Given the description of an element on the screen output the (x, y) to click on. 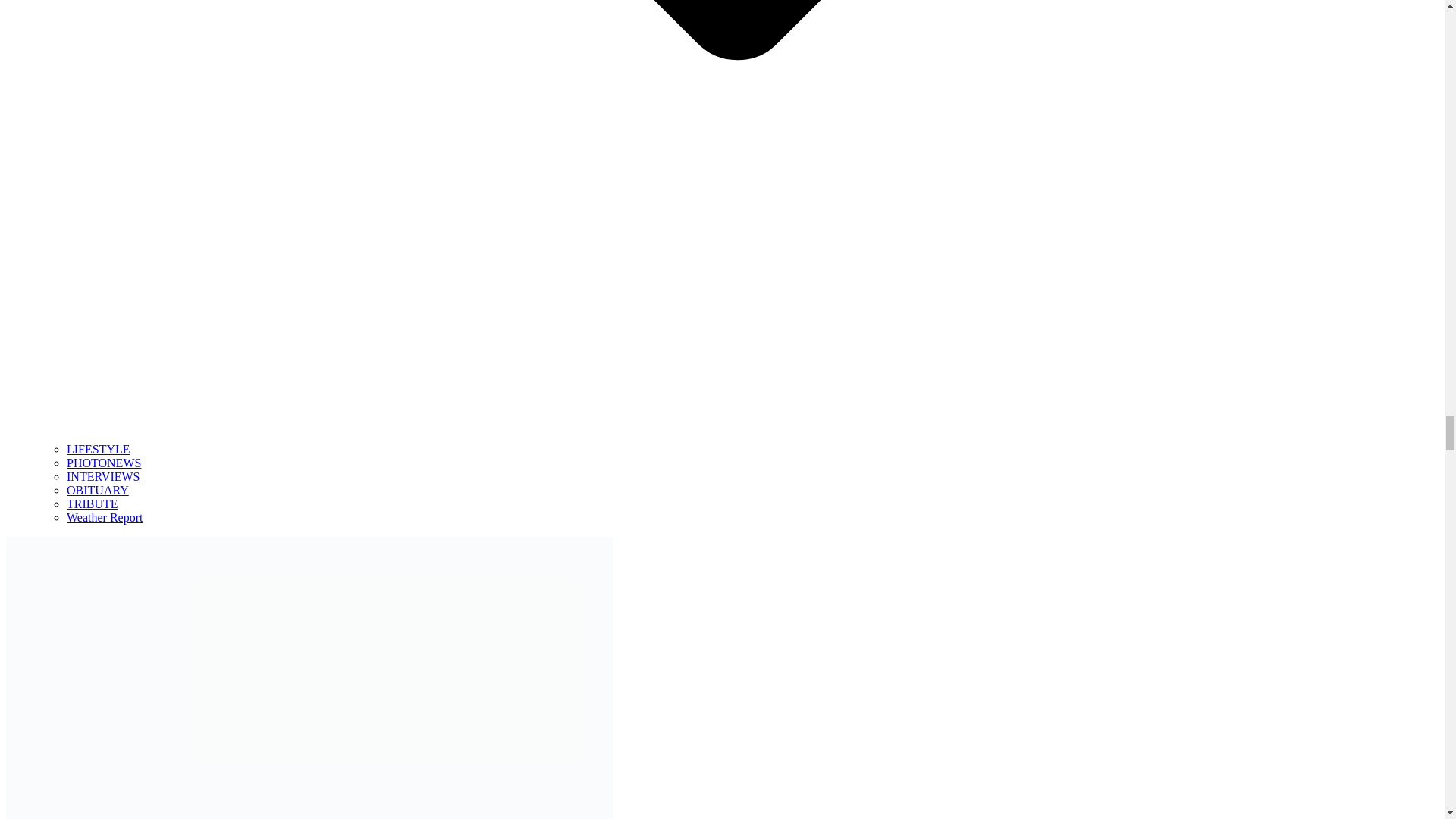
TRIBUTE (91, 503)
LIFESTYLE (98, 449)
INTERVIEWS (102, 476)
OBITUARY (97, 490)
PHOTONEWS (103, 462)
Weather Report (104, 517)
